Given the description of an element on the screen output the (x, y) to click on. 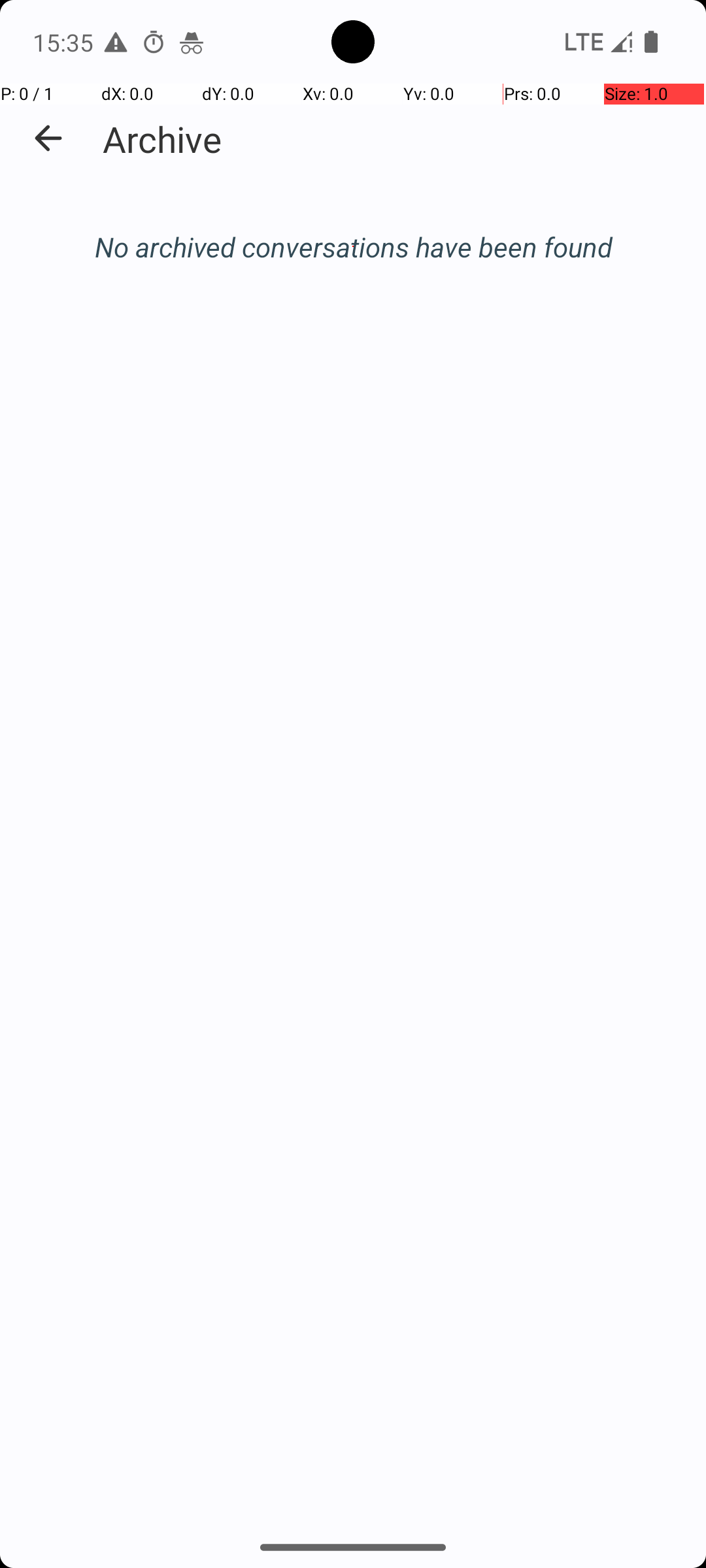
Archive Element type: android.widget.TextView (162, 138)
No archived conversations have been found Element type: android.widget.TextView (353, 246)
